Given the description of an element on the screen output the (x, y) to click on. 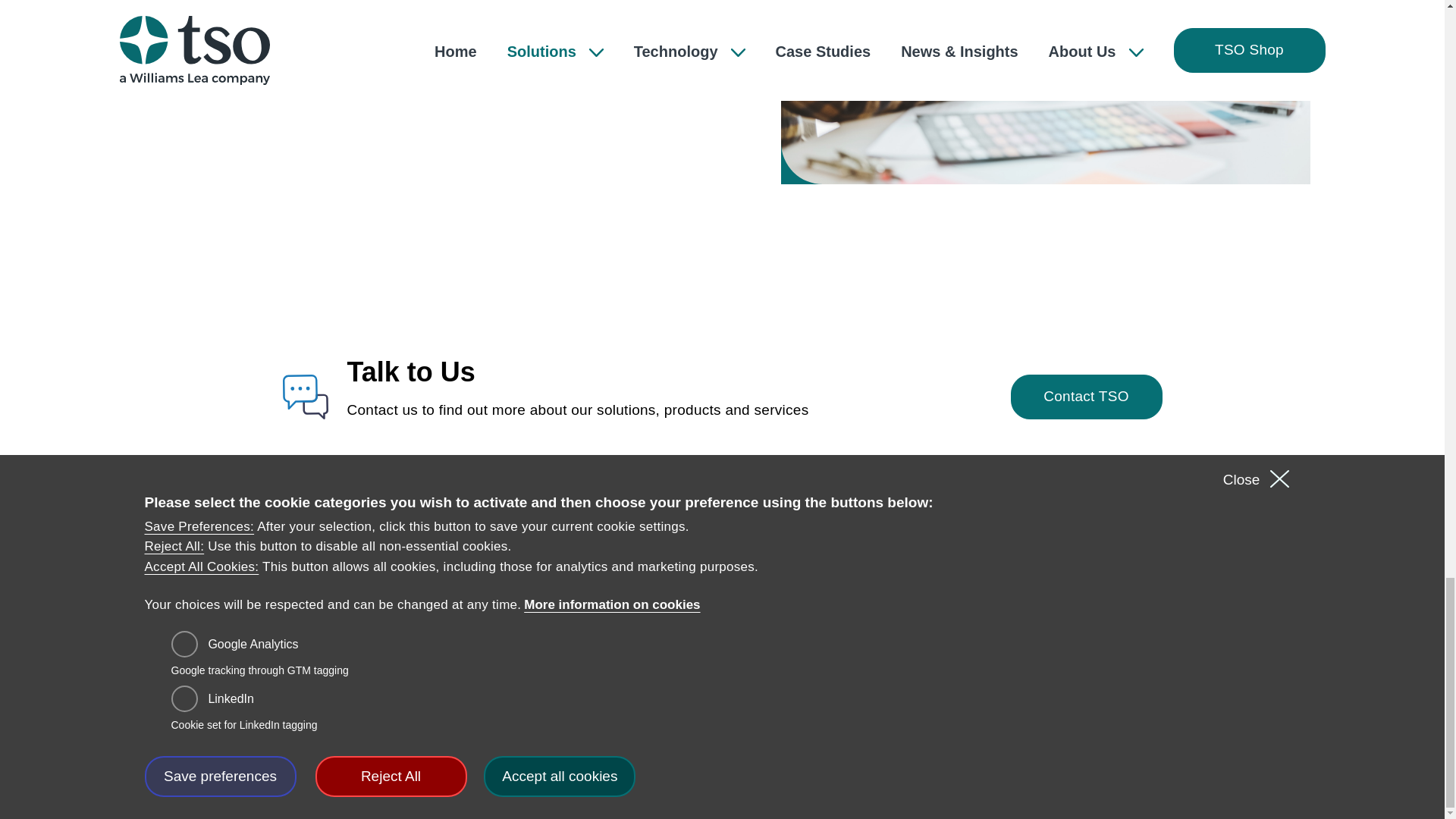
Careers at TSO (546, 618)
Manage Cookie Preferences (760, 702)
Connect with us (1263, 626)
Contact Us (532, 647)
Contact TSO (1085, 396)
Modern Slavery Statement (757, 674)
Williams Lea Group (414, 778)
Cookies Policy (718, 647)
